Given the description of an element on the screen output the (x, y) to click on. 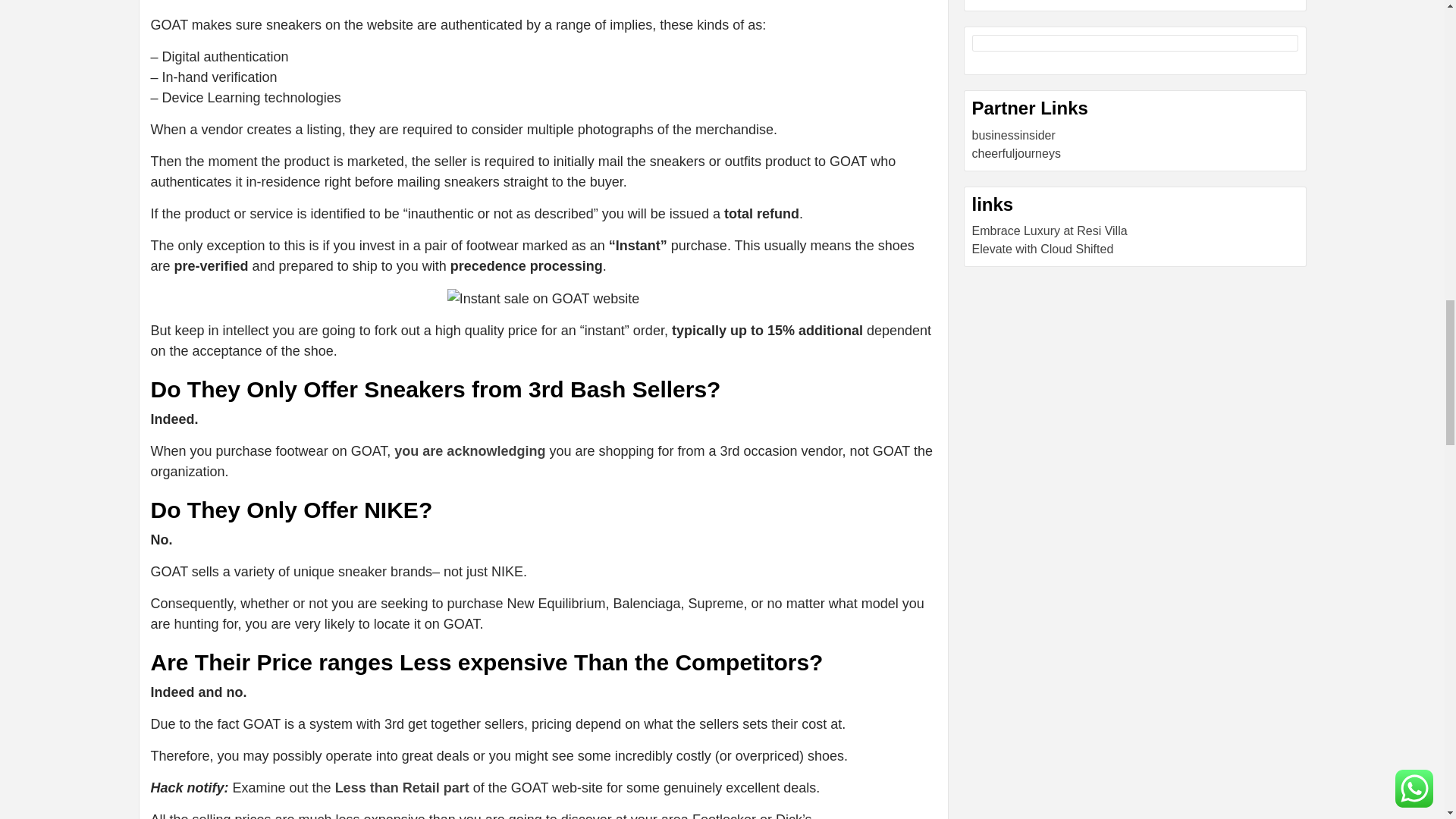
you are acknowledging (469, 450)
Less than Retail part (401, 787)
